Given the description of an element on the screen output the (x, y) to click on. 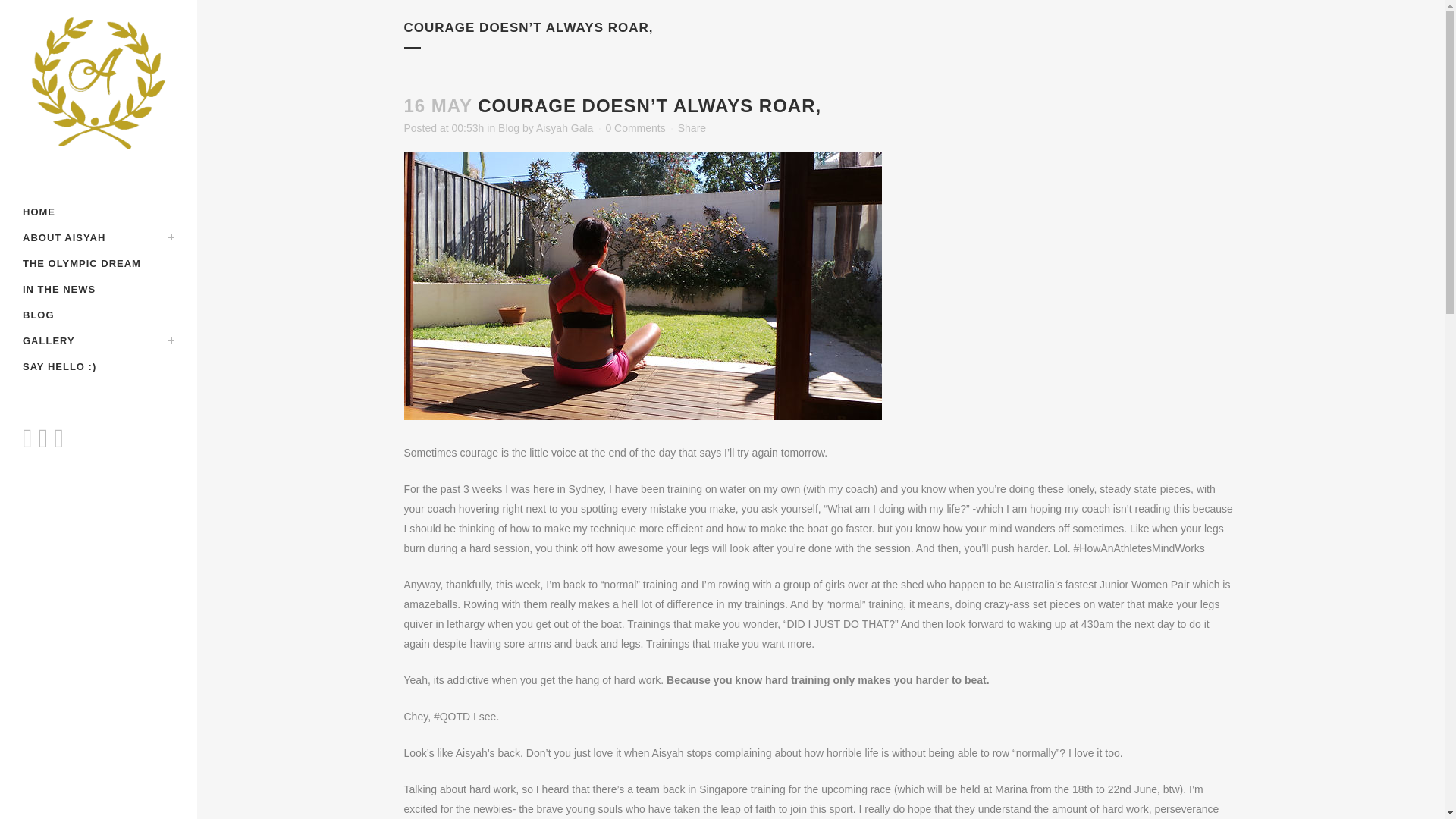
Share (692, 128)
HOME (98, 212)
ABOUT AISYAH (98, 237)
Blog (508, 128)
0 Comments (635, 128)
THE OLYMPIC DREAM (98, 263)
Aisyah Gala (563, 128)
GALLERY (98, 340)
BLOG (98, 315)
IN THE NEWS (98, 289)
